Given the description of an element on the screen output the (x, y) to click on. 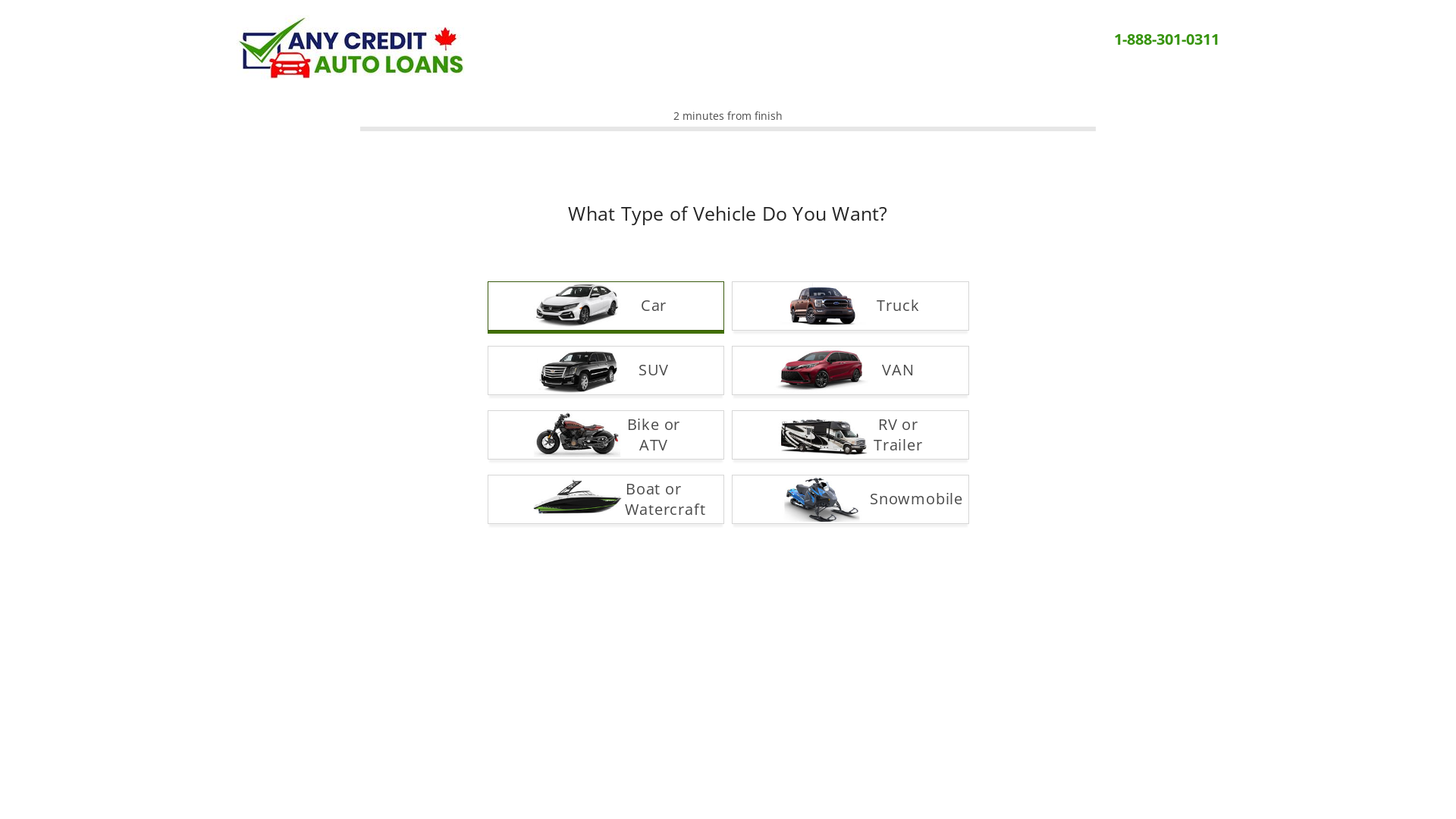
Snowmobile Element type: text (850, 499)
RV or Trailer Element type: text (850, 433)
SUV Element type: text (605, 370)
Boat or Watercraft Element type: text (605, 499)
Car Element type: text (605, 304)
VAN Element type: text (850, 370)
Bike or ATV Element type: text (605, 433)
Truck Element type: text (850, 304)
1-888-301-0311 Element type: text (1166, 38)
